Given the description of an element on the screen output the (x, y) to click on. 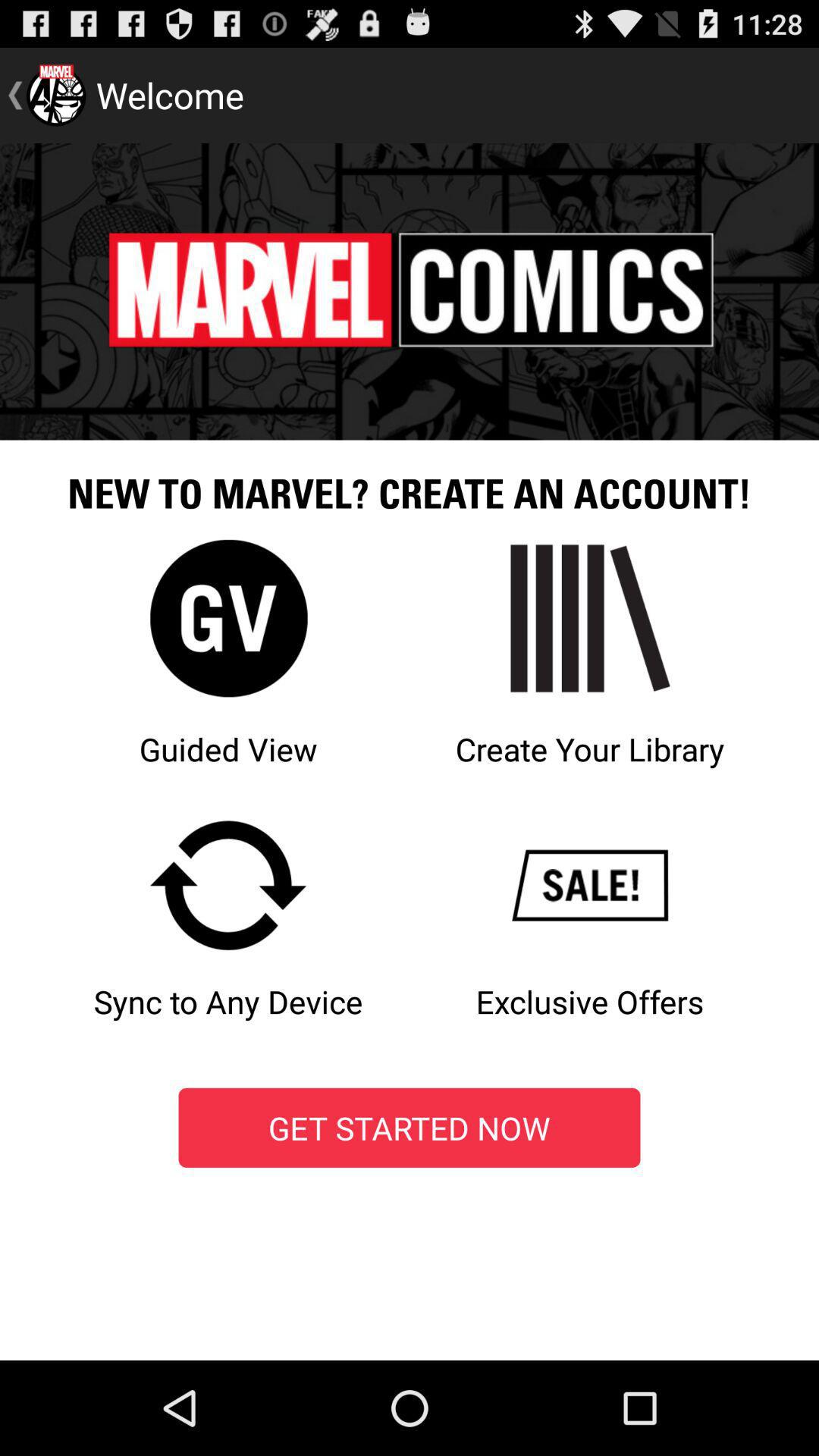
select the icon below the sync to any icon (409, 1127)
